Given the description of an element on the screen output the (x, y) to click on. 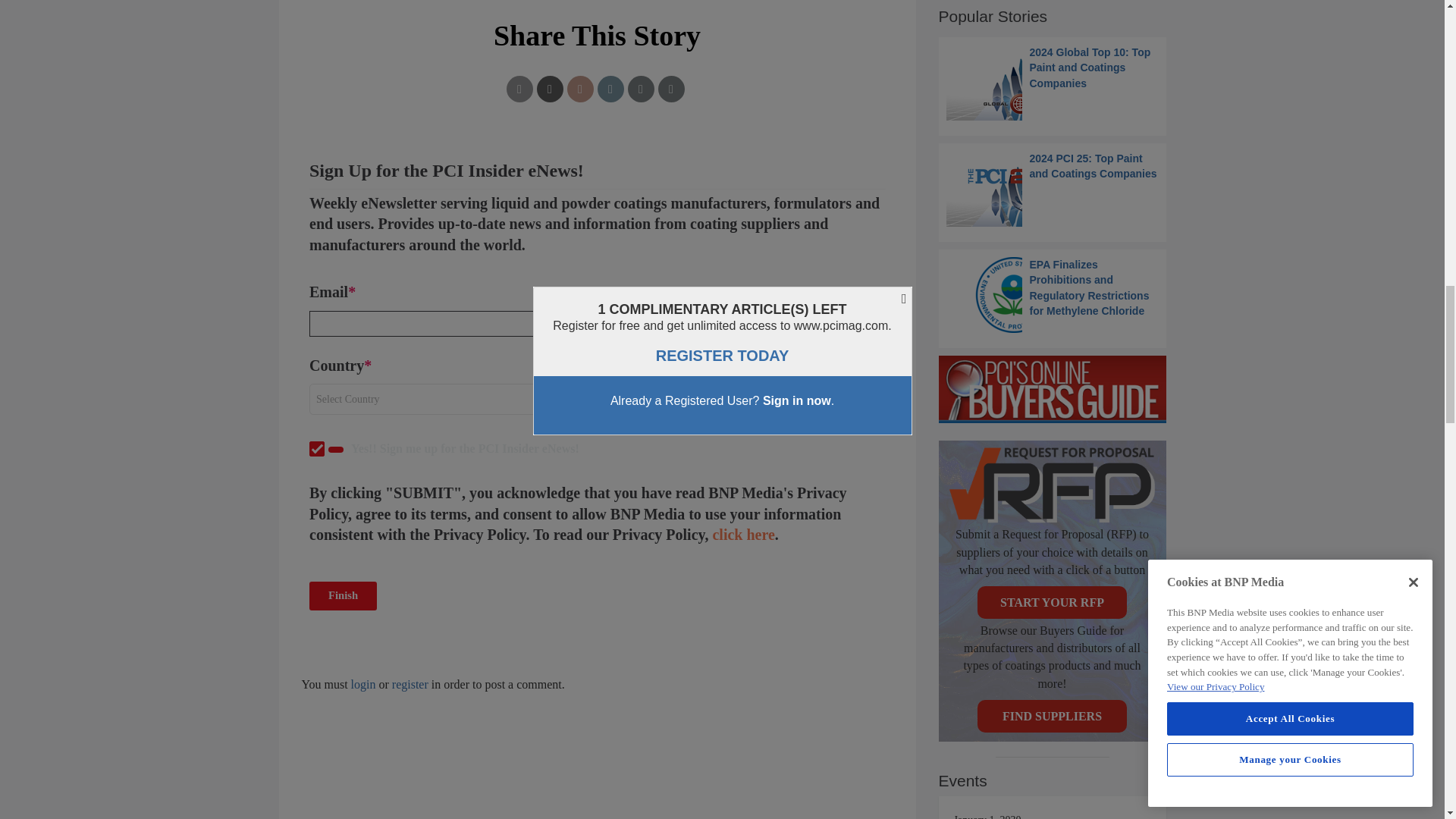
2024 Global Top 10: Top Paint and Coatings Companies (1052, 82)
2024 PCI 25: Top Paint and Coatings Companies (1052, 188)
